Given the description of an element on the screen output the (x, y) to click on. 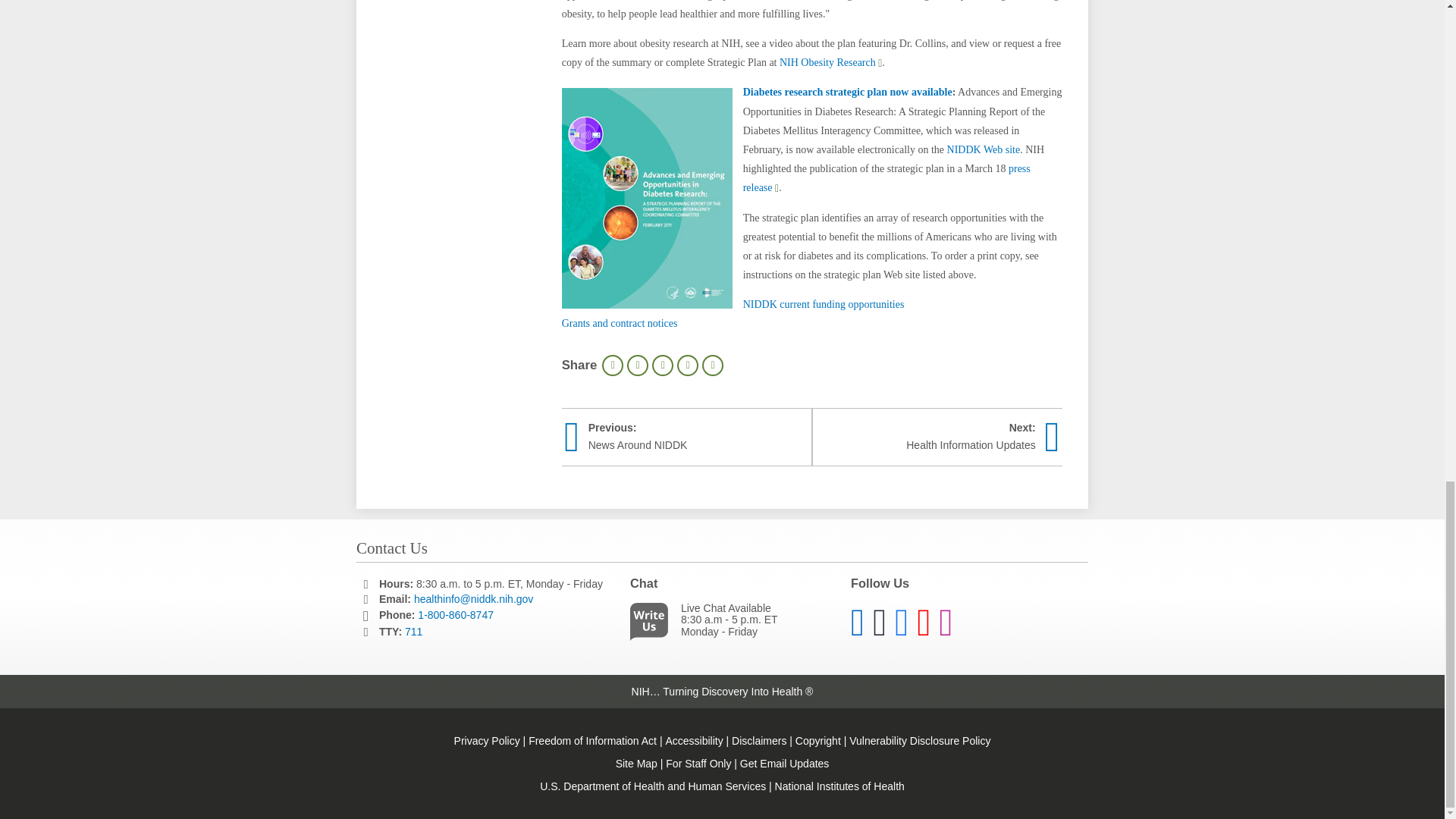
Email this page (687, 364)
Write us (652, 625)
Post this page on X (662, 364)
Share this page on Facebook (637, 364)
Print this page (612, 364)
More sharing options (712, 364)
